Given the description of an element on the screen output the (x, y) to click on. 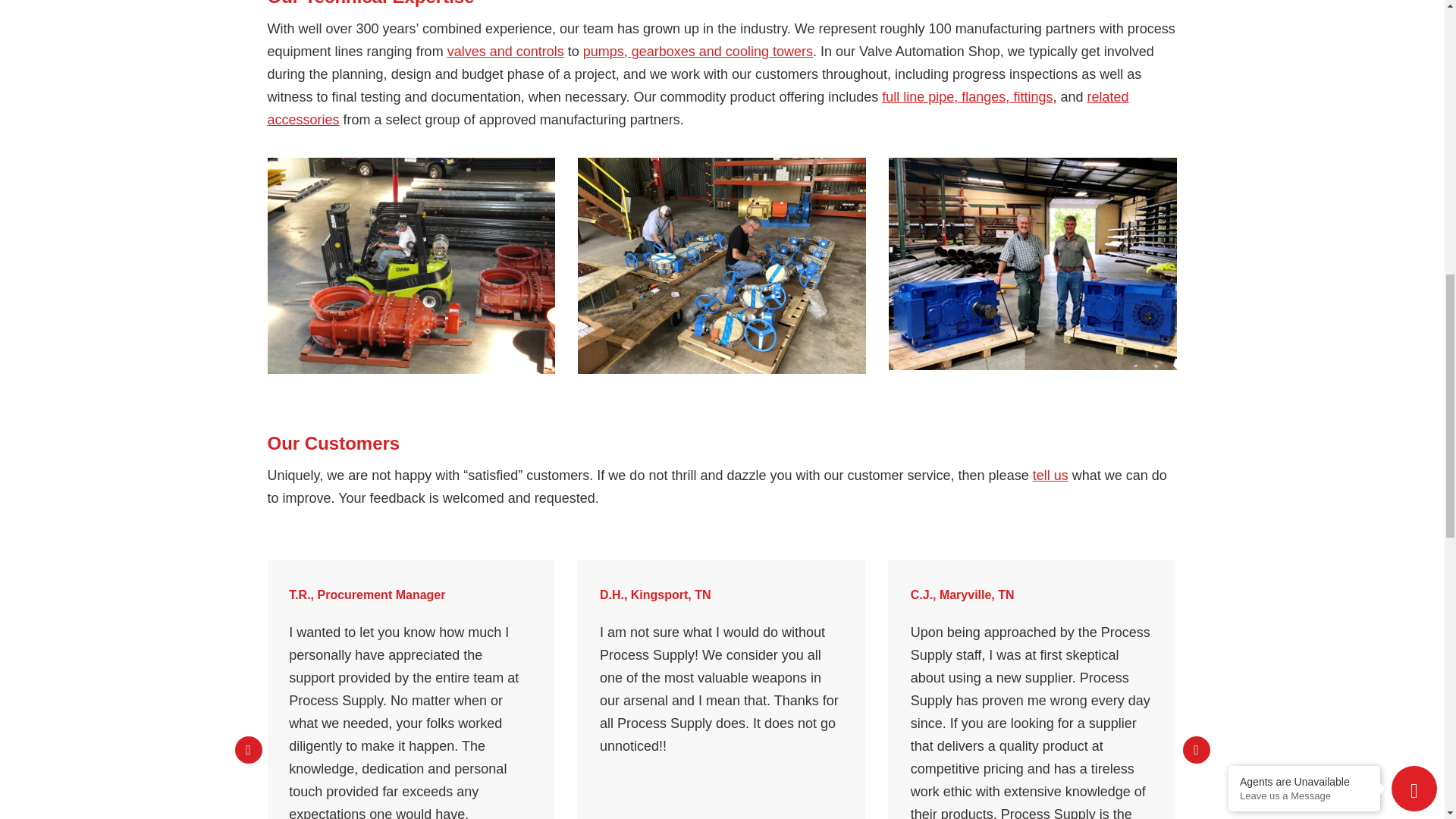
Large Underground Gate Valve Project (410, 265)
